Given the description of an element on the screen output the (x, y) to click on. 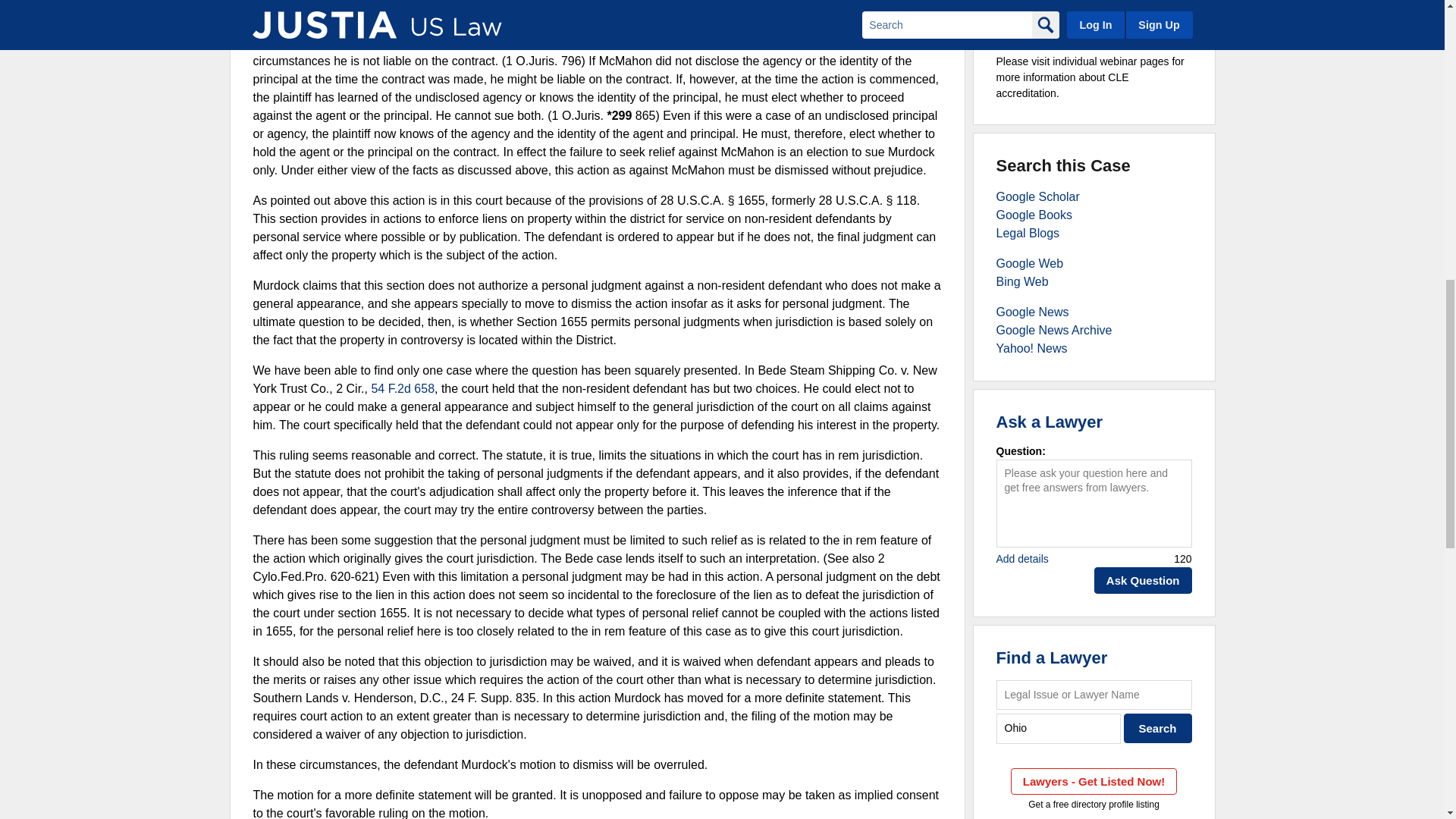
Law - Google News (1031, 311)
Google Scholar (1037, 196)
54 F.2d 658 (402, 388)
Law - Yahoo! News (1031, 348)
City, State (1058, 727)
Law - Google Books (1034, 214)
Law - Google Web (1029, 263)
Search (1158, 727)
Law - Bing Web (1021, 281)
Ohio (1058, 727)
Search (1158, 727)
Law - Google News Archive (1053, 329)
Law - Legal Blogs (1027, 232)
Legal Issue or Lawyer Name (1093, 695)
